Given the description of an element on the screen output the (x, y) to click on. 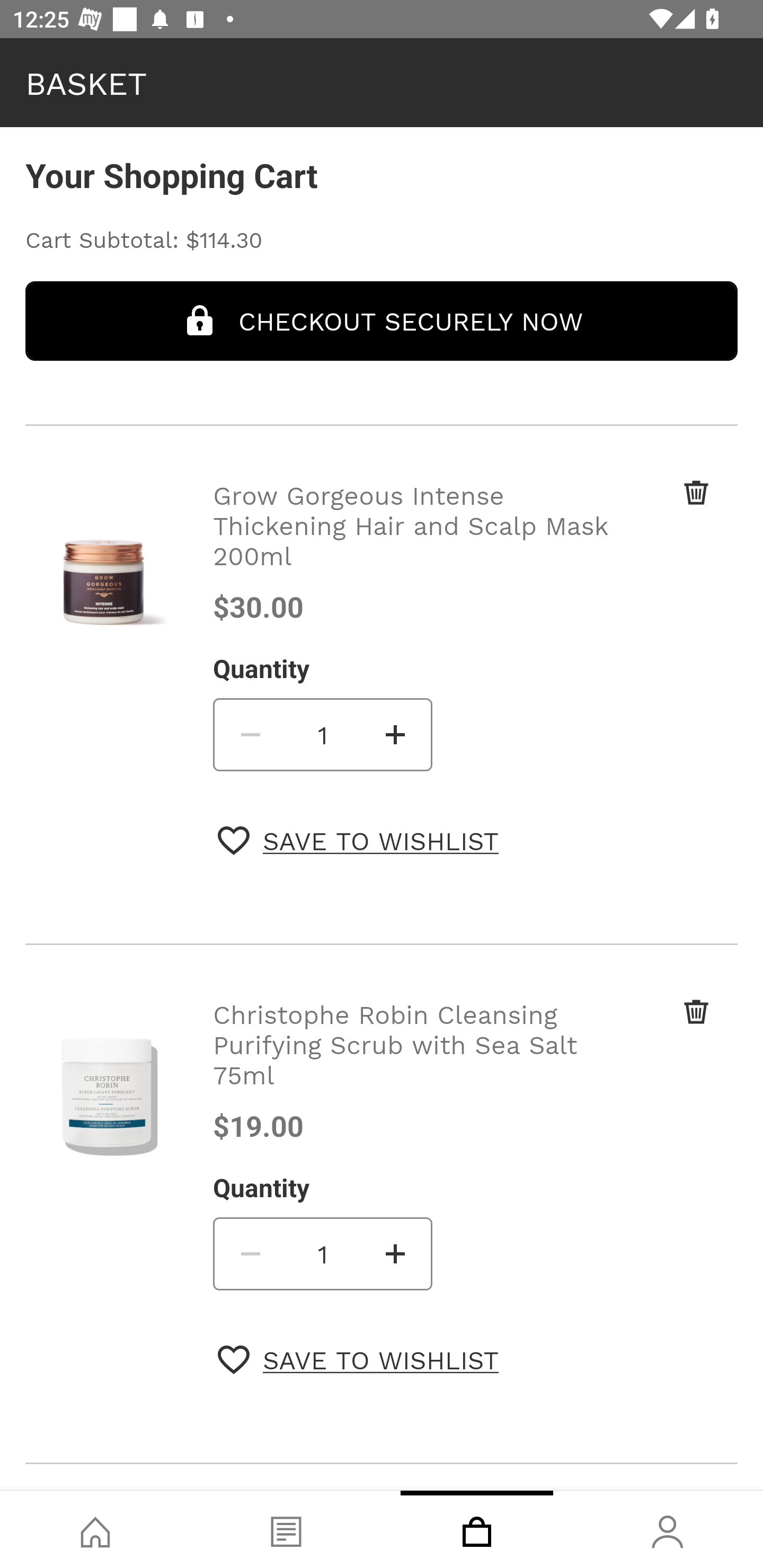
Checkout Securely Now CHECKOUT SECURELY NOW (381, 320)
Remove this item (661, 513)
Decrease quantity (249, 734)
Increase quantity (395, 734)
Save to Wishlist SAVE TO WISHLIST (357, 840)
Remove this item (661, 1032)
Decrease quantity (249, 1253)
Increase quantity (395, 1253)
Save to Wishlist SAVE TO WISHLIST (357, 1359)
Shop, tab, 1 of 4 (95, 1529)
Blog, tab, 2 of 4 (285, 1529)
Basket, tab, 3 of 4 (476, 1529)
Account, tab, 4 of 4 (667, 1529)
